Given the description of an element on the screen output the (x, y) to click on. 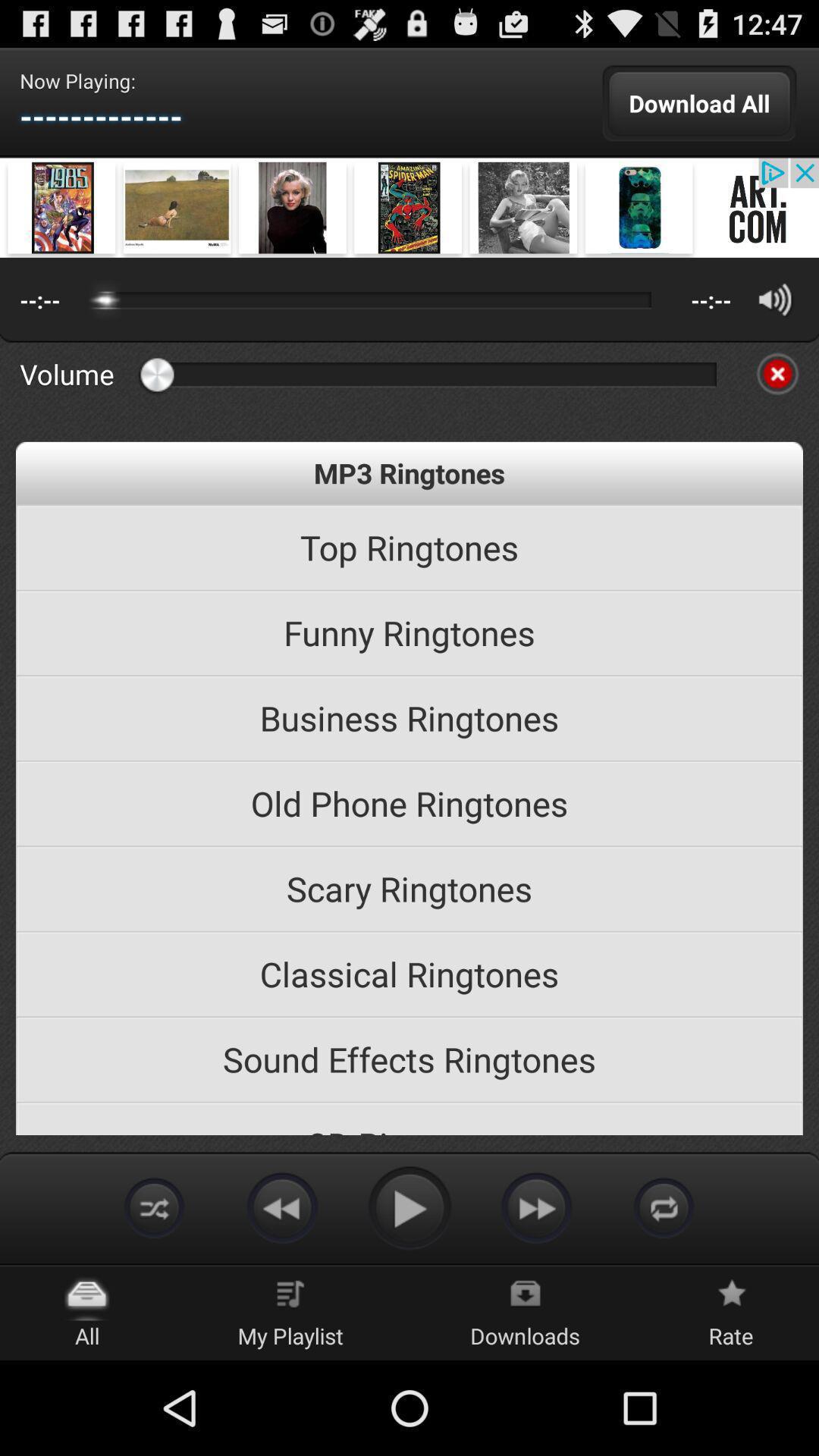
next song (536, 1207)
